Given the description of an element on the screen output the (x, y) to click on. 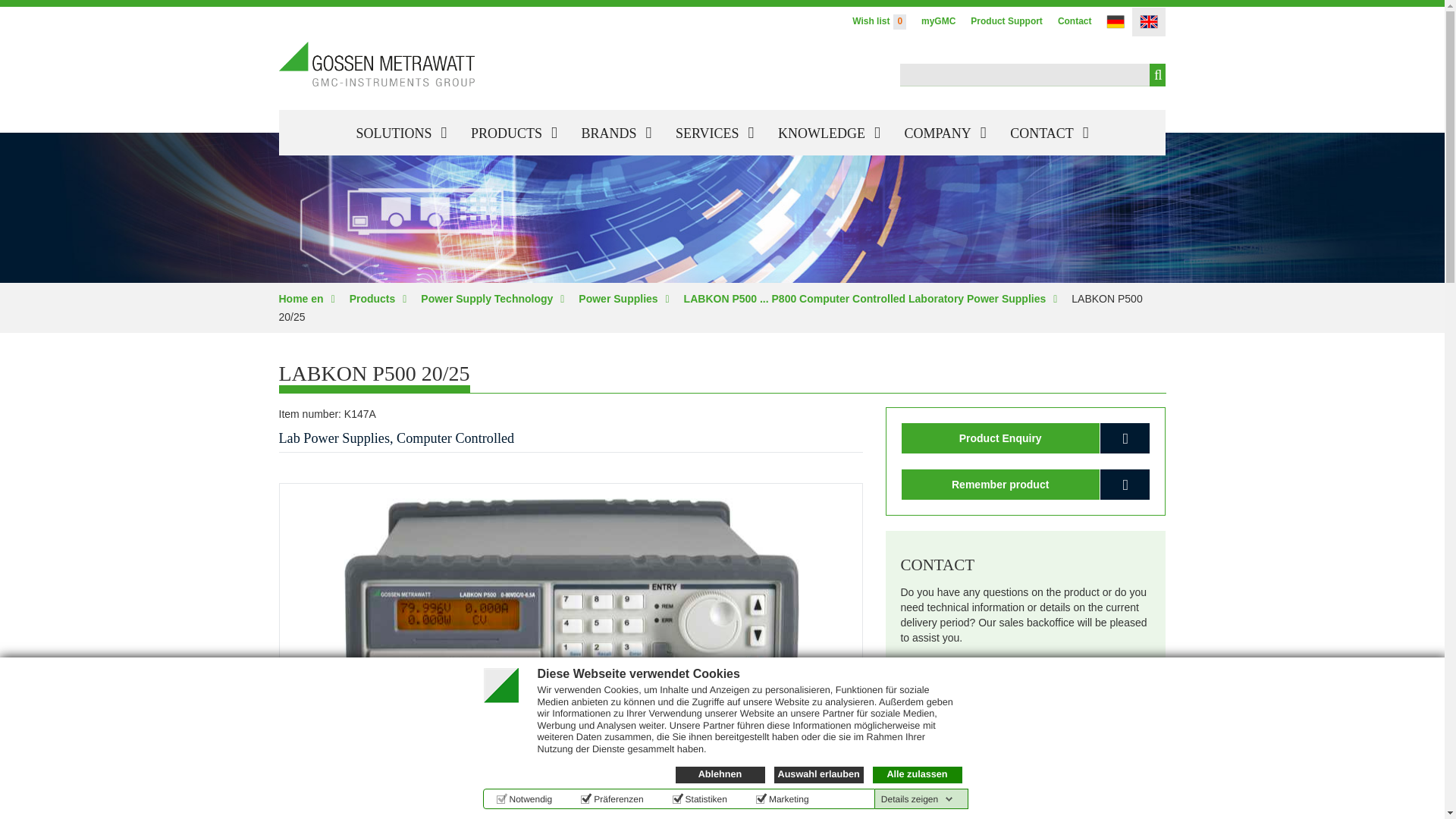
Auswahl erlauben (818, 774)
Details zeigen (916, 799)
Ablehnen (719, 774)
Alle zulassen (916, 774)
